Given the description of an element on the screen output the (x, y) to click on. 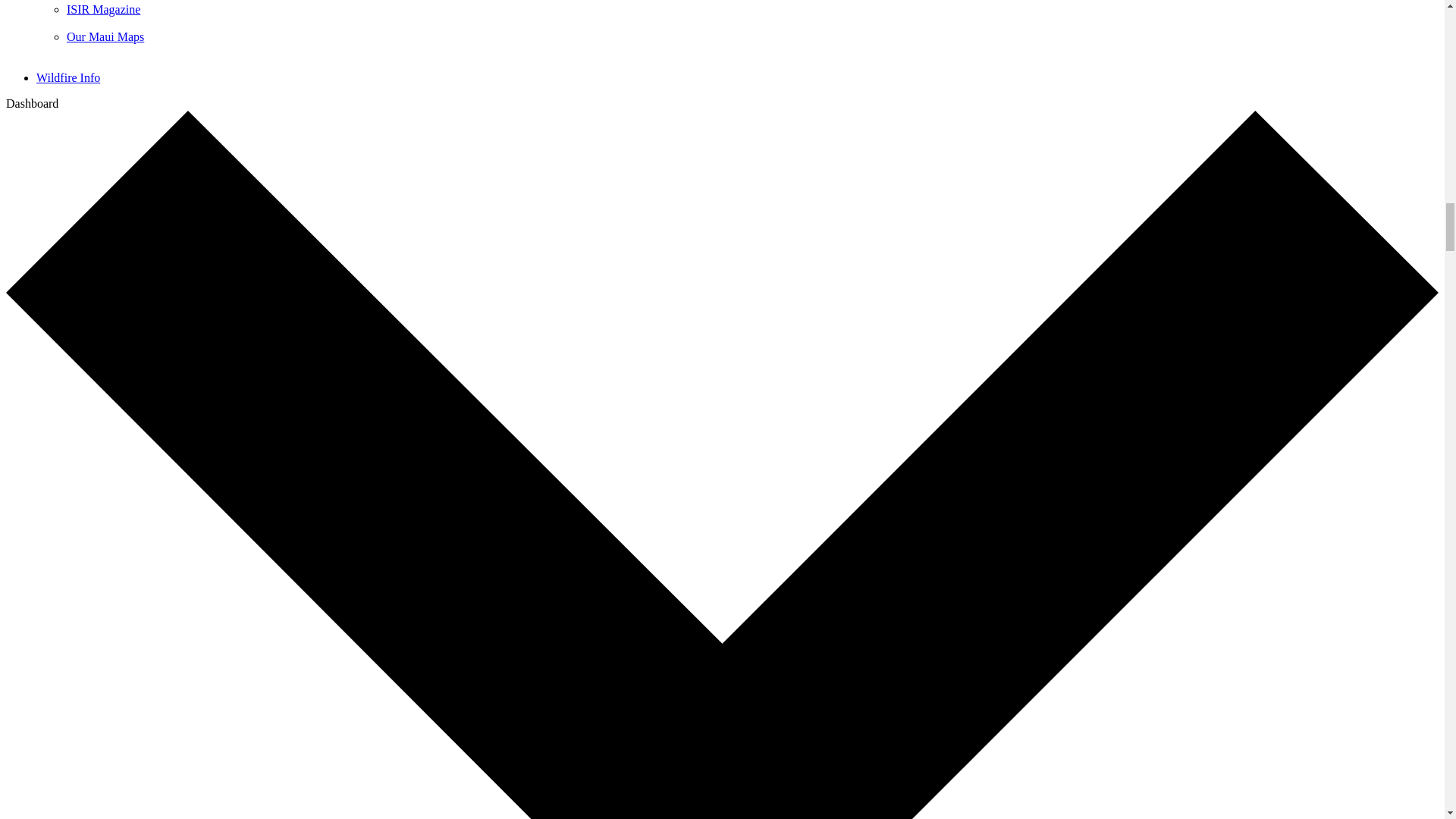
Our Publications (76, 1)
Dashboard (31, 103)
Opens and Closes My Account (31, 103)
Wildfire Info (68, 77)
ISIR Magazine (102, 9)
Our Maui Maps (105, 36)
